Given the description of an element on the screen output the (x, y) to click on. 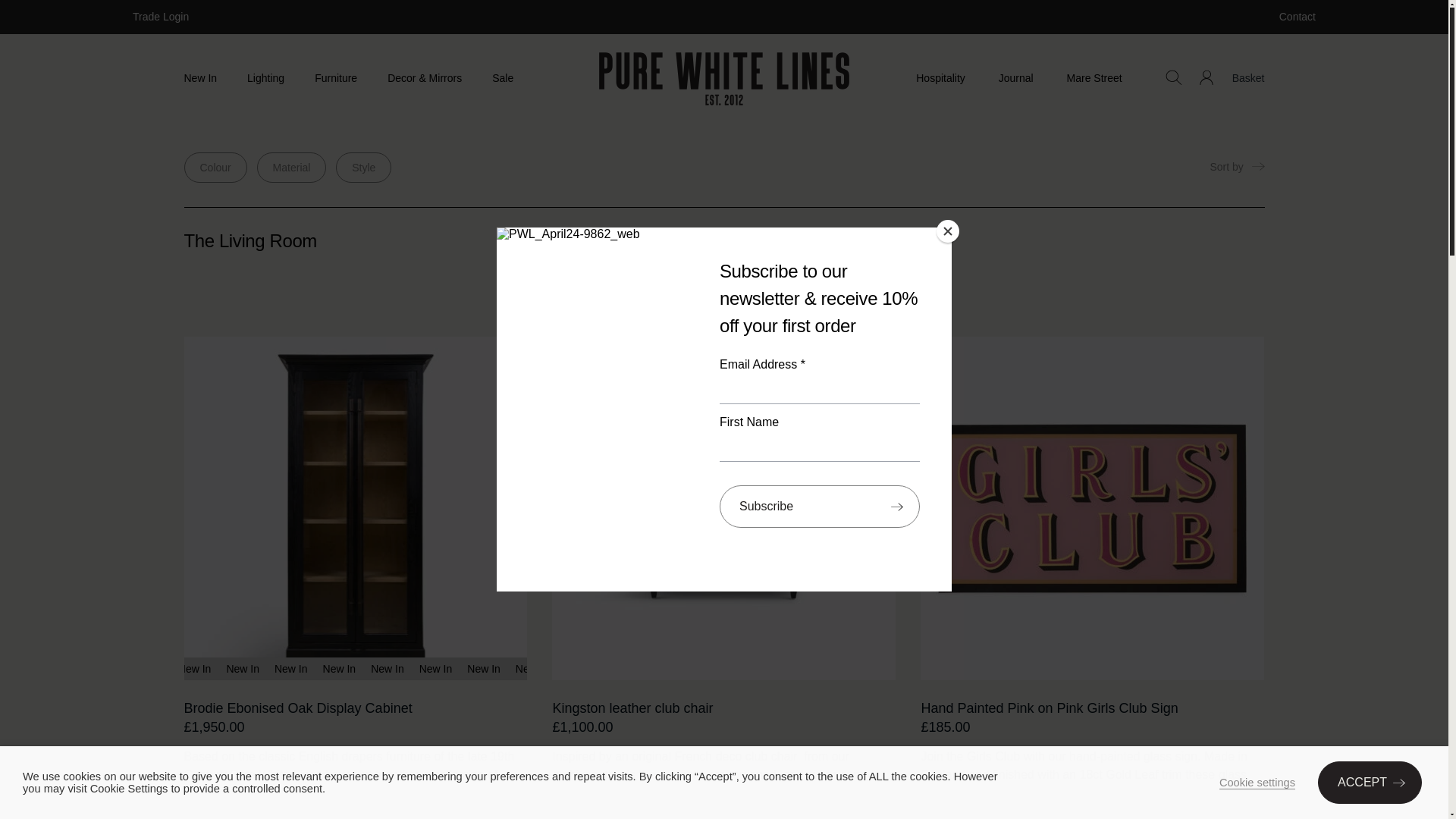
Trade Login (160, 16)
Subscribe (819, 506)
Contact (1297, 16)
